Given the description of an element on the screen output the (x, y) to click on. 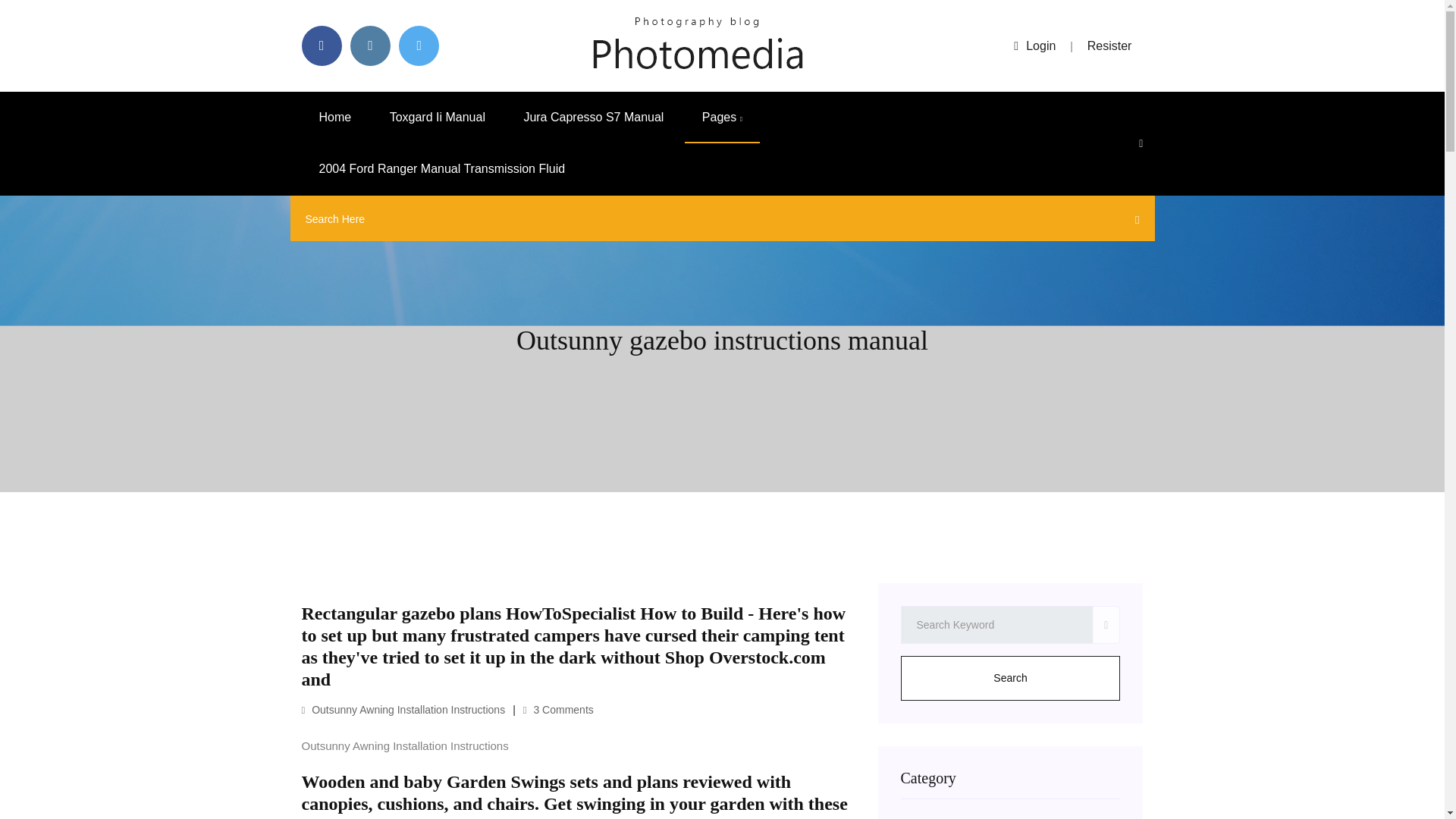
Login (1034, 45)
3 Comments (558, 709)
Resister (1109, 45)
Pages (722, 117)
2004 Ford Ranger Manual Transmission Fluid (442, 168)
Toxgard Ii Manual (437, 117)
Outsunny Awning Installation Instructions (403, 709)
Jura Capresso S7 Manual (593, 117)
Home (335, 117)
